Given the description of an element on the screen output the (x, y) to click on. 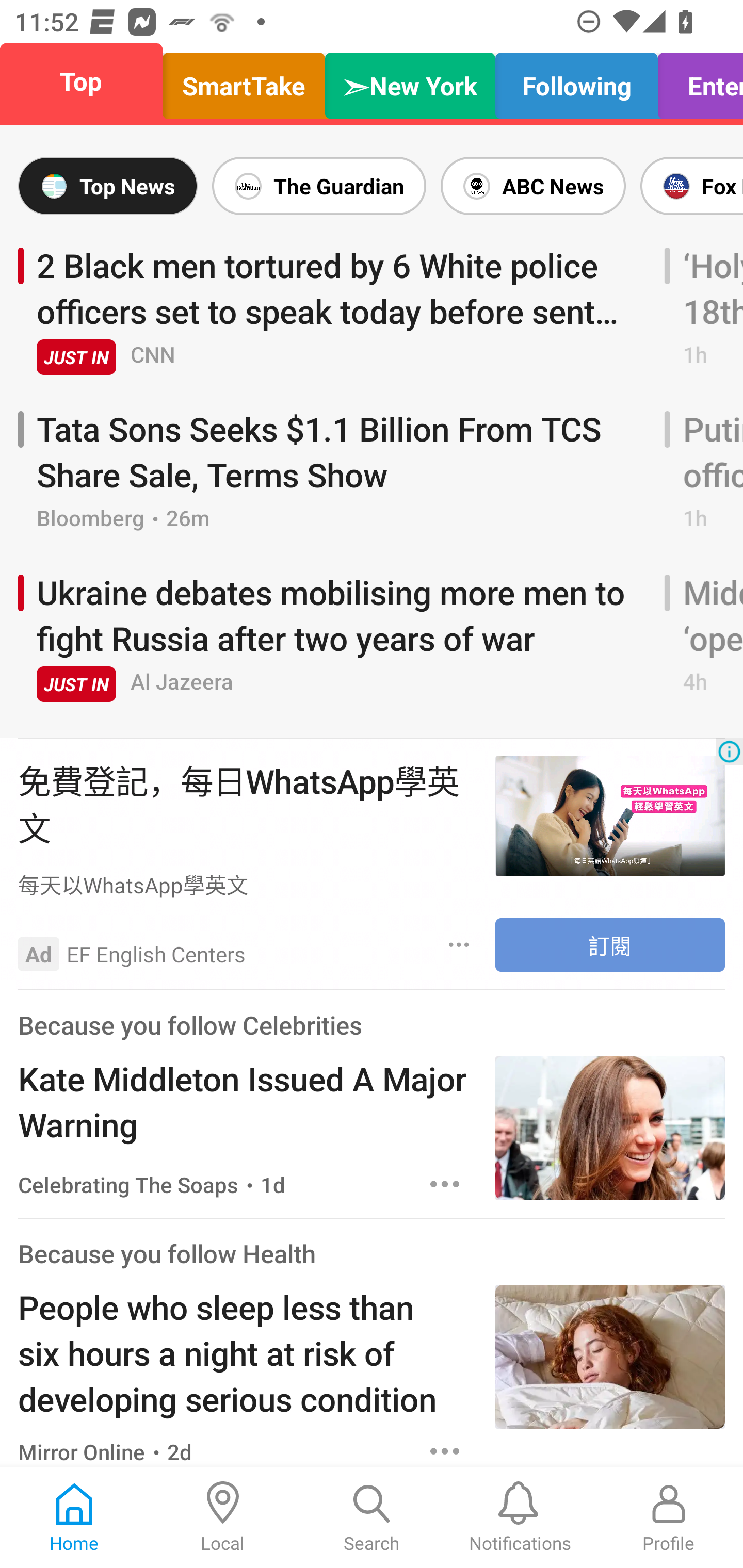
Top (86, 81)
SmartTake (243, 81)
➣New York (409, 81)
Following (576, 81)
The Guardian (319, 185)
ABC News (533, 185)
JUST IN (75, 356)
JUST IN (75, 684)
Ad Choices Icon (729, 751)
免費登記，每日WhatsApp學英文 (247, 802)
每天以WhatsApp學英文 (247, 884)
訂閱 (610, 945)
Options (459, 944)
EF English Centers (155, 954)
Because you follow Celebrities (189, 1024)
Options (444, 1183)
Because you follow Health (166, 1252)
Options (444, 1448)
Local (222, 1517)
Search (371, 1517)
Notifications (519, 1517)
Profile (668, 1517)
